Given the description of an element on the screen output the (x, y) to click on. 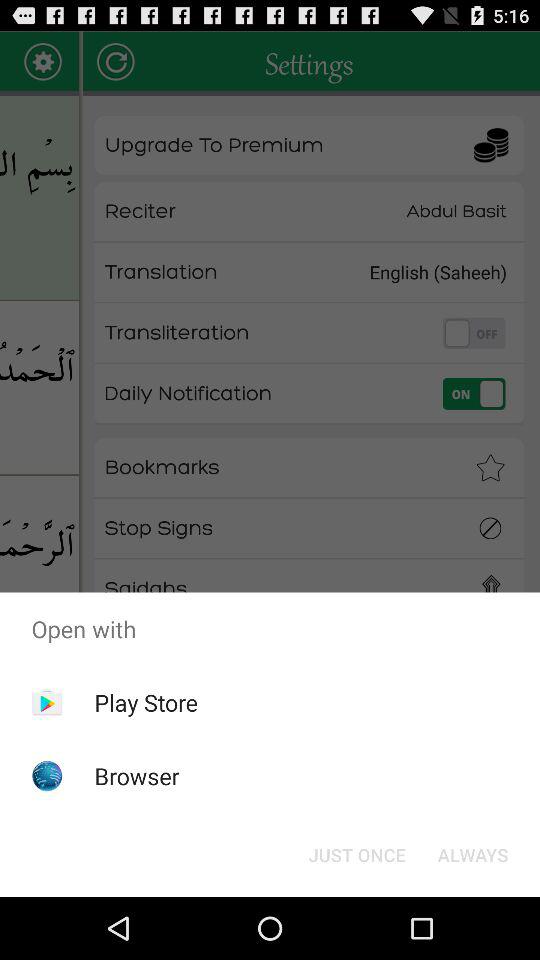
press the icon below play store app (136, 775)
